Given the description of an element on the screen output the (x, y) to click on. 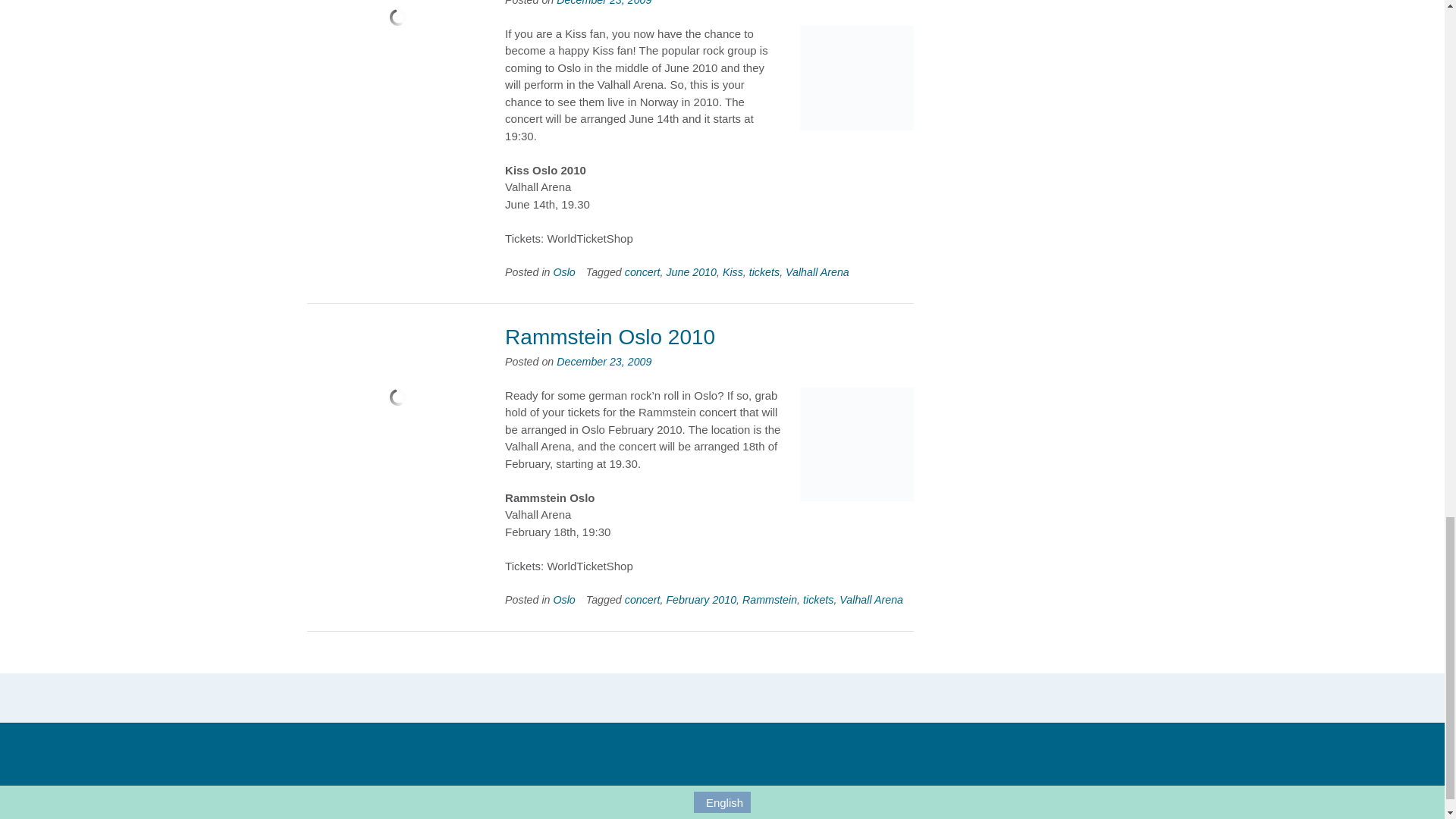
Rammstein (856, 444)
Kiss (856, 77)
